Given the description of an element on the screen output the (x, y) to click on. 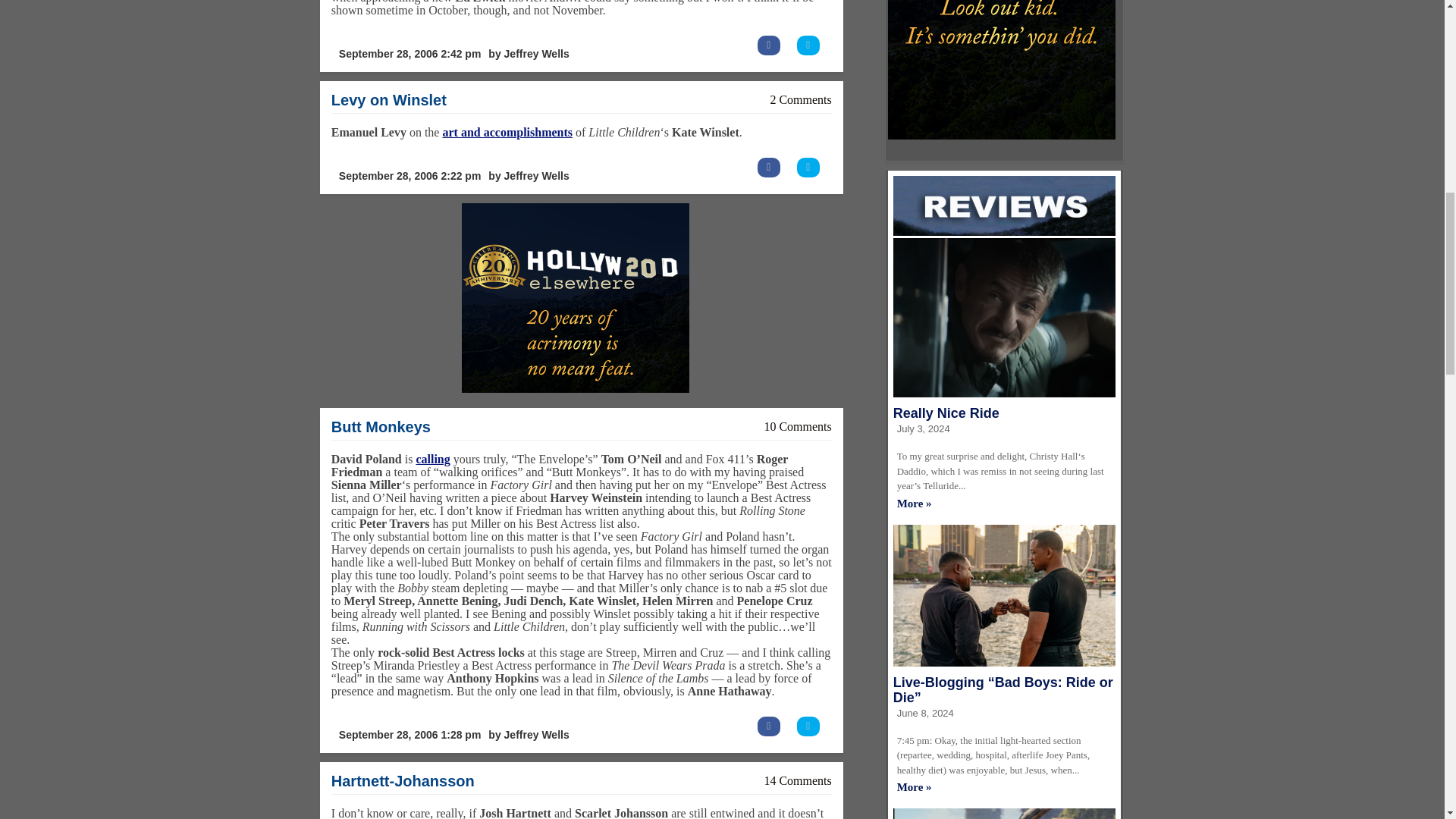
by Jeffrey Wells (528, 53)
Permanent Link to Levy on Winslet (388, 99)
September 28, 2006 2:22 pm (409, 175)
Permanent Link to Hartnett-Johansson (402, 781)
Permanent Link to Butt Monkeys (380, 426)
art and accomplishments (507, 132)
September 28, 2006 2:42 pm (409, 53)
by Jeffrey Wells (528, 175)
Levy on Winslet (388, 99)
2 Comments (800, 99)
